Given the description of an element on the screen output the (x, y) to click on. 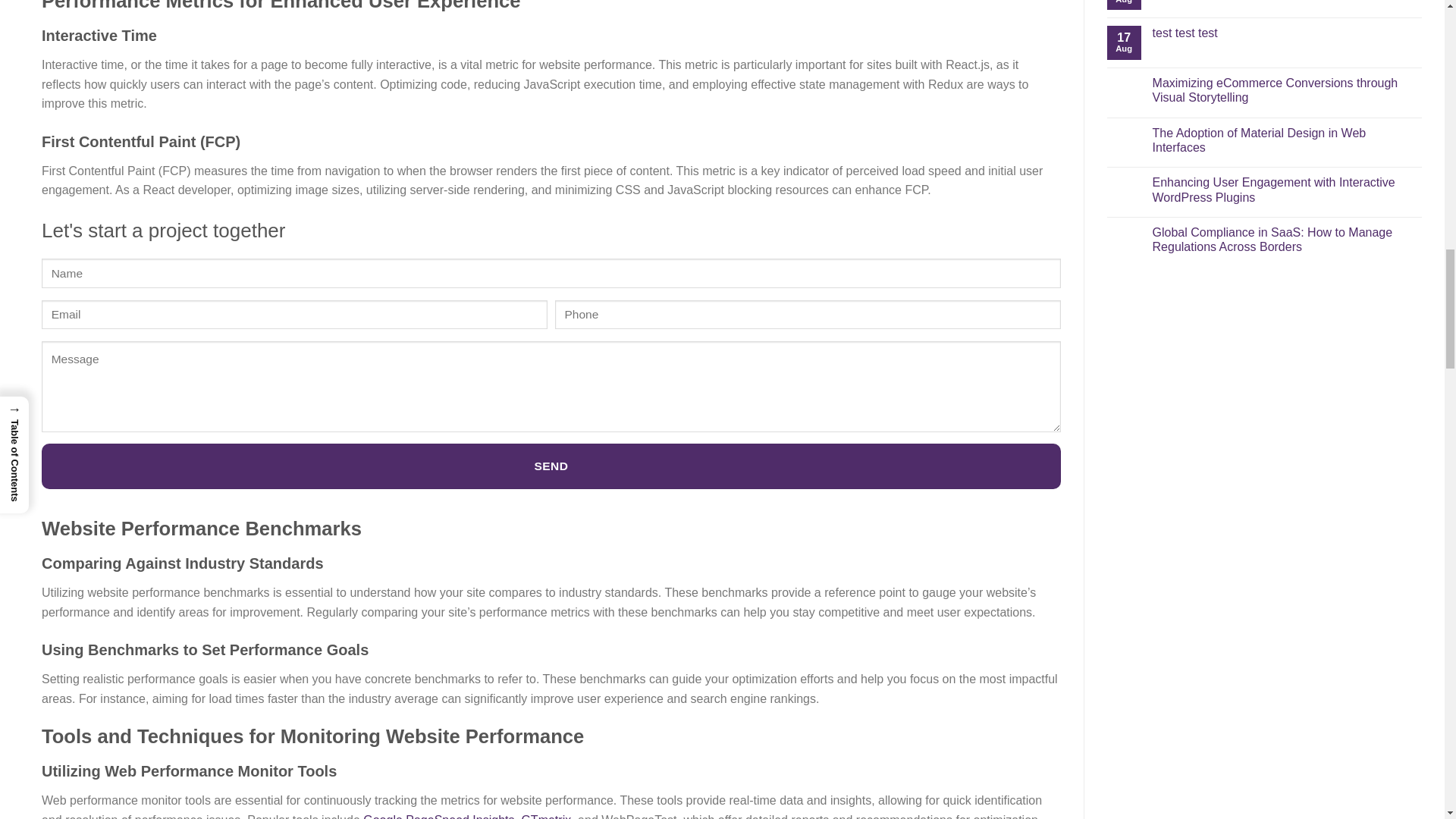
Send (551, 465)
Google PageSpeed Insights (437, 816)
Send (551, 465)
GTmetrix (545, 816)
